Given the description of an element on the screen output the (x, y) to click on. 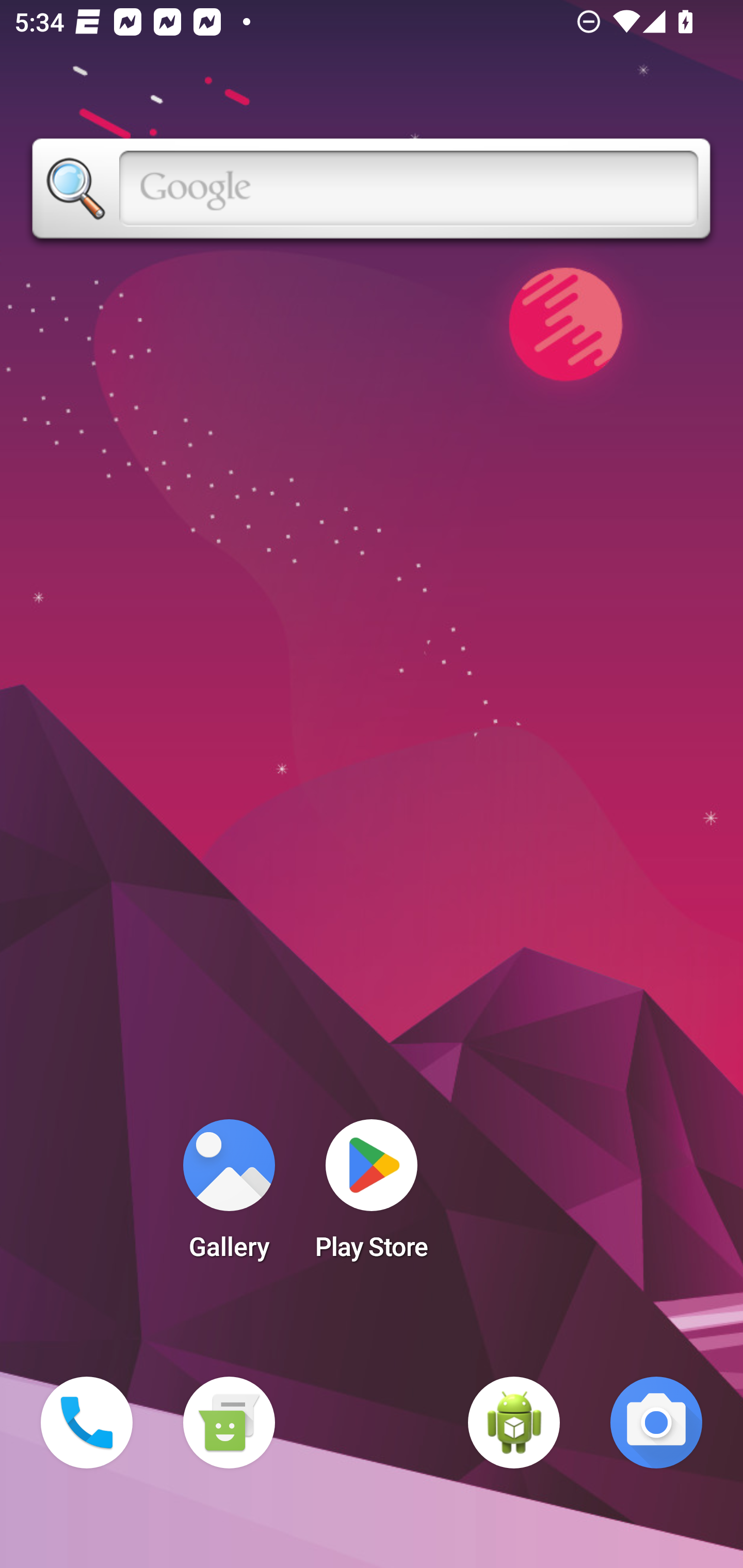
Gallery (228, 1195)
Play Store (371, 1195)
Phone (86, 1422)
Messaging (228, 1422)
WebView Browser Tester (513, 1422)
Camera (656, 1422)
